Given the description of an element on the screen output the (x, y) to click on. 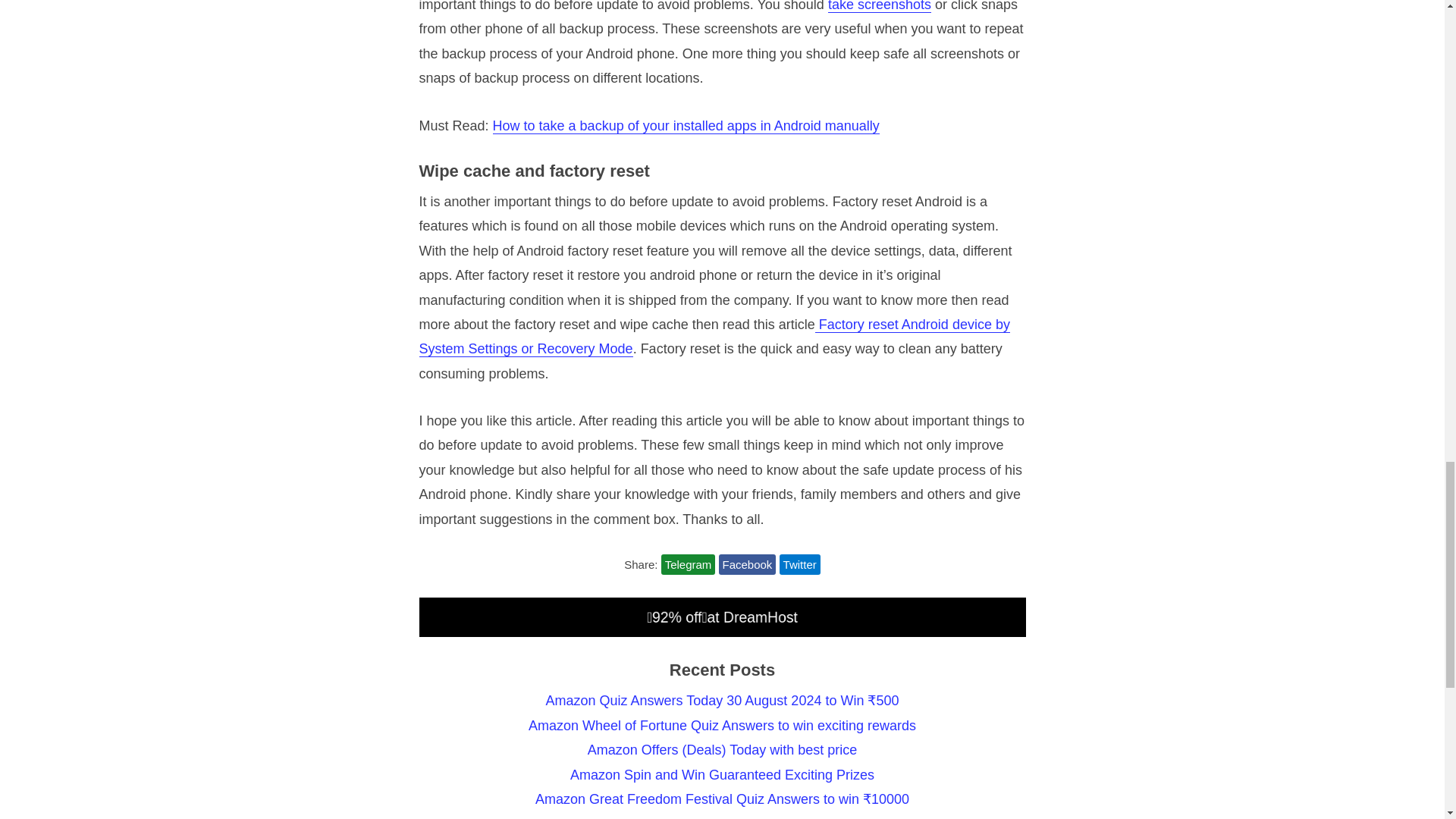
take screenshots (879, 6)
Twitter (799, 564)
Tweet on Twitter (799, 564)
Amazon Spin and Win Guaranteed Exciting Prizes (722, 774)
Share on Telegram (688, 564)
Amazon Wheel of Fortune Quiz Answers to win exciting rewards (721, 725)
Facebook (747, 564)
Telegram (688, 564)
